Given the description of an element on the screen output the (x, y) to click on. 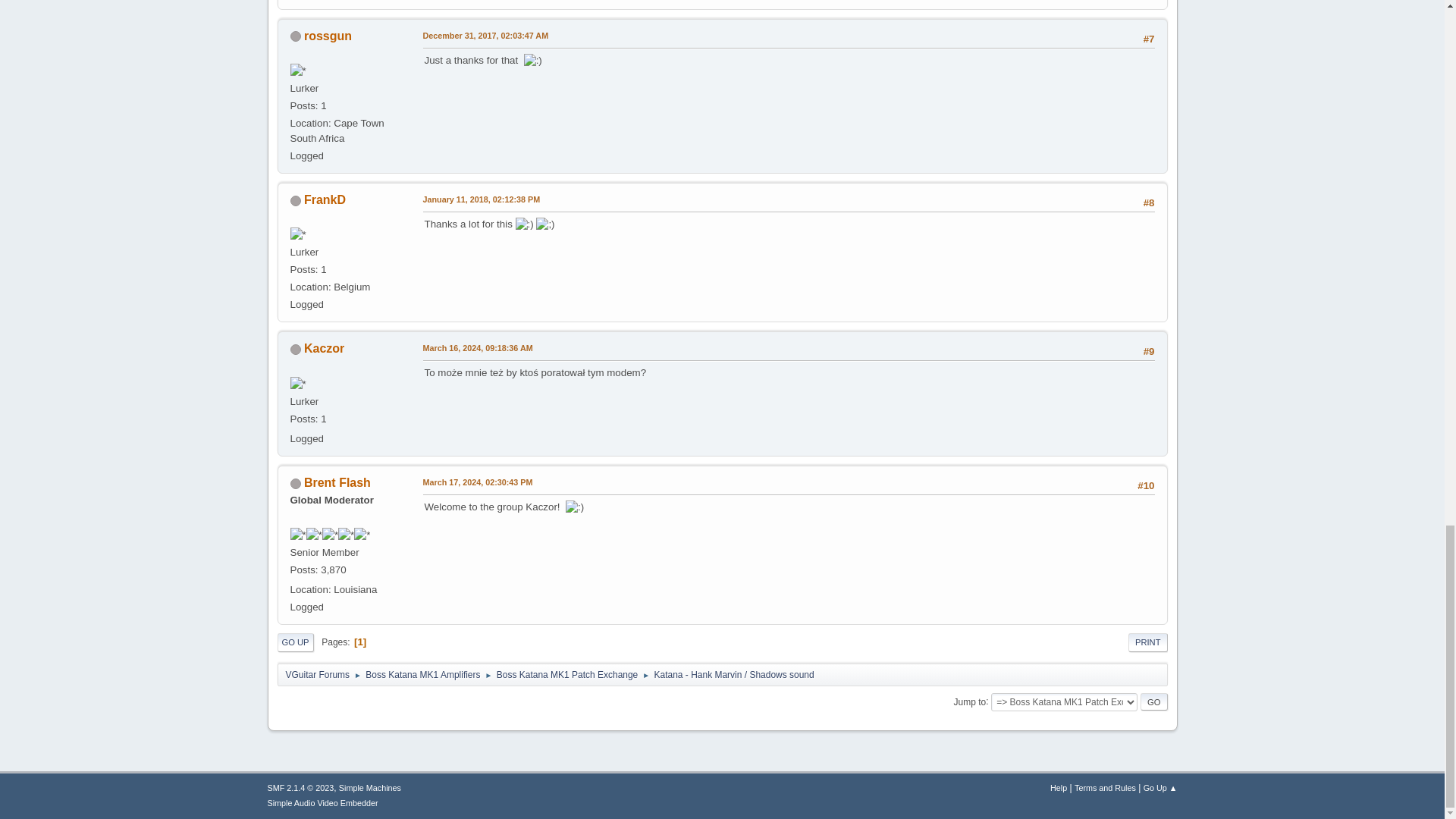
Go (1153, 701)
